Given the description of an element on the screen output the (x, y) to click on. 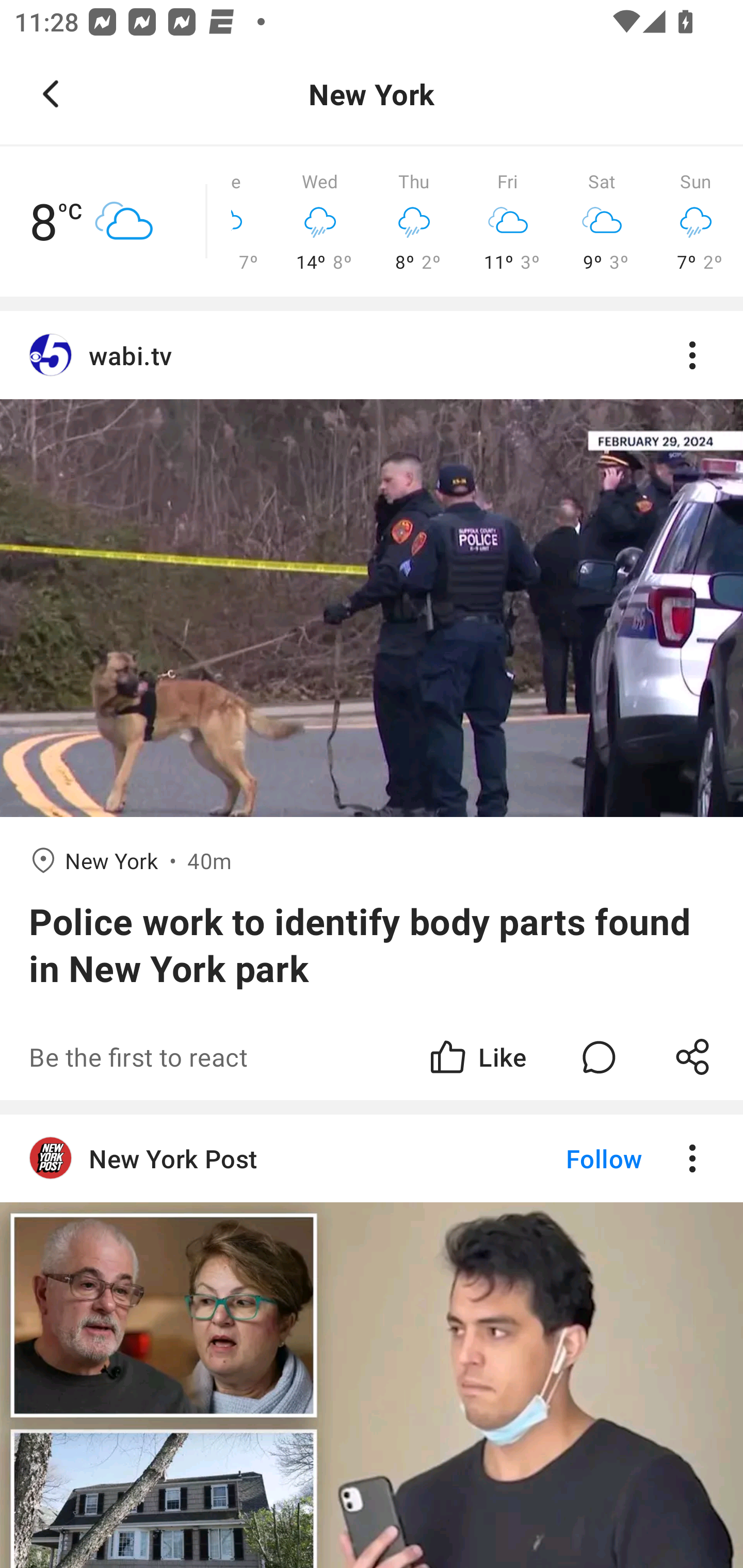
Navigate up (50, 93)
Wed 14º 8º (320, 221)
Thu 8º 2º (414, 221)
Fri 11º 3º (508, 221)
Sat 9º 3º (602, 221)
Sun 7º 2º (696, 221)
wabi.tv (371, 355)
Be the first to react (244, 1056)
Like (476, 1056)
New York Post Follow (371, 1341)
New York Post Follow (371, 1158)
Follow (569, 1158)
